Given the description of an element on the screen output the (x, y) to click on. 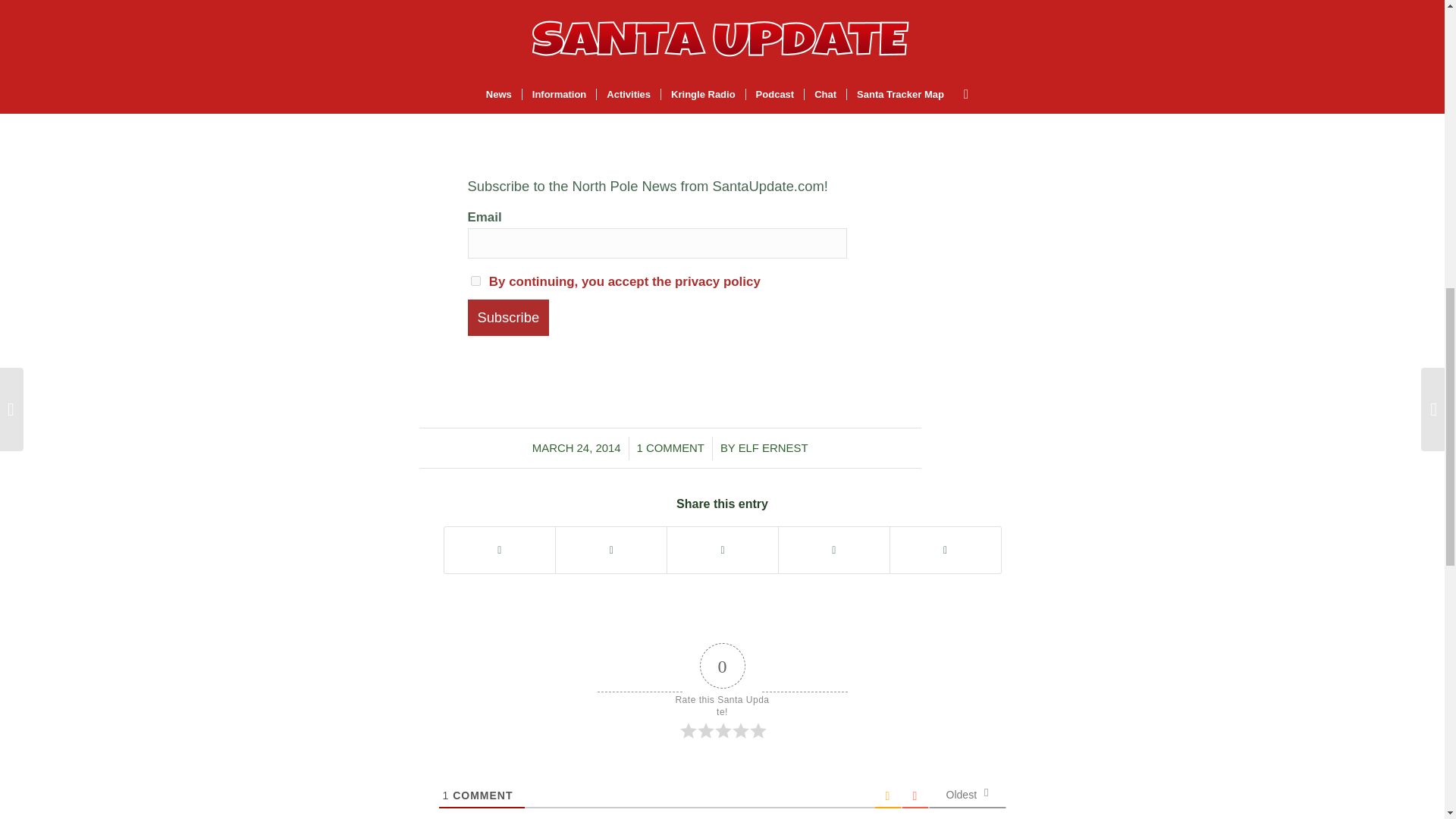
Subscribe (507, 317)
on (475, 280)
Posts by Elf Ernest (773, 448)
